Given the description of an element on the screen output the (x, y) to click on. 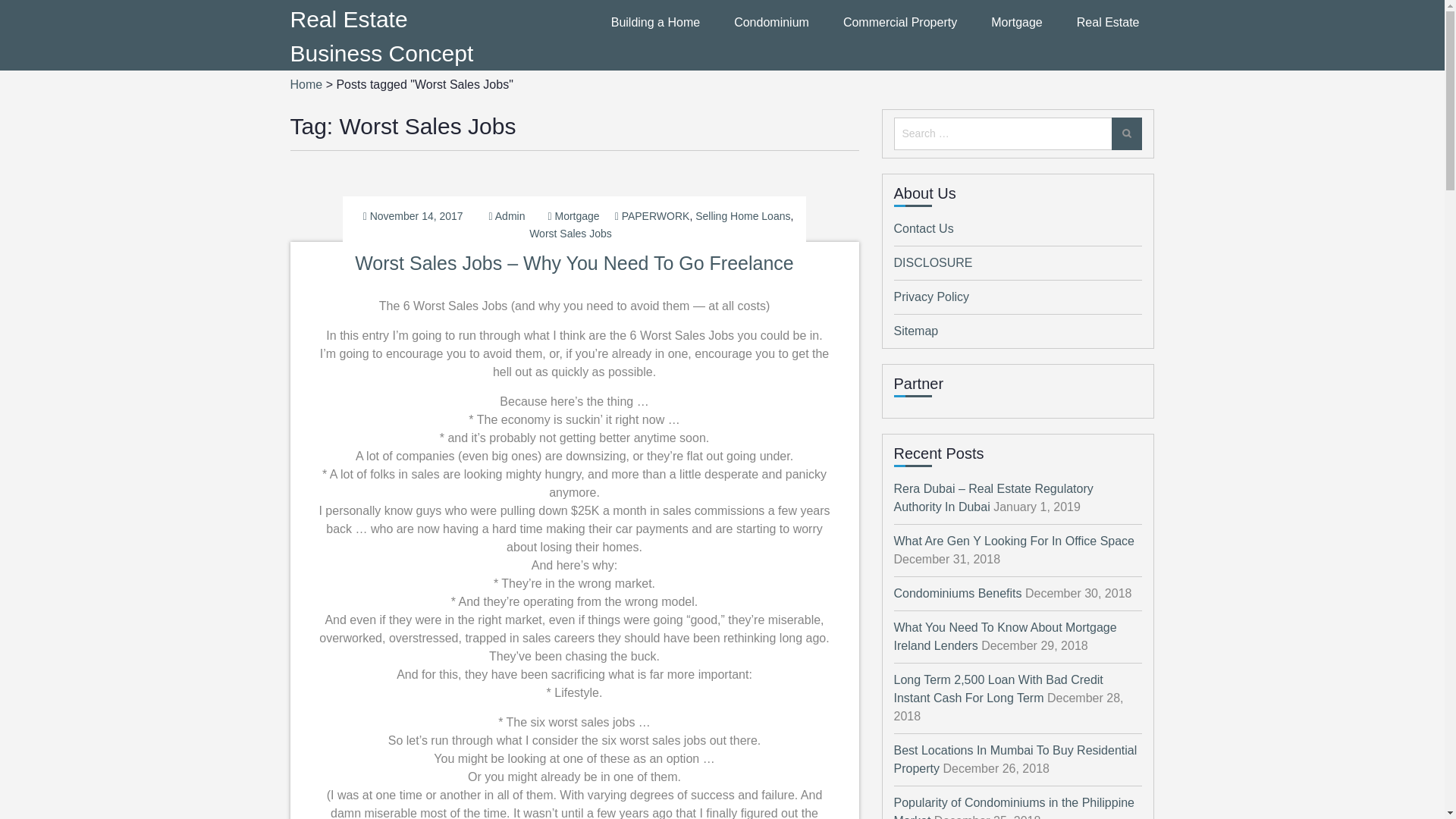
Search (1126, 133)
Condominiums Benefits (957, 593)
Privacy Policy (931, 296)
Mortgage (1016, 22)
Real Estate (1108, 22)
Real Estate Business Concept (381, 36)
Search (1126, 133)
November 14, 2017 (416, 215)
Admin (510, 215)
